Given the description of an element on the screen output the (x, y) to click on. 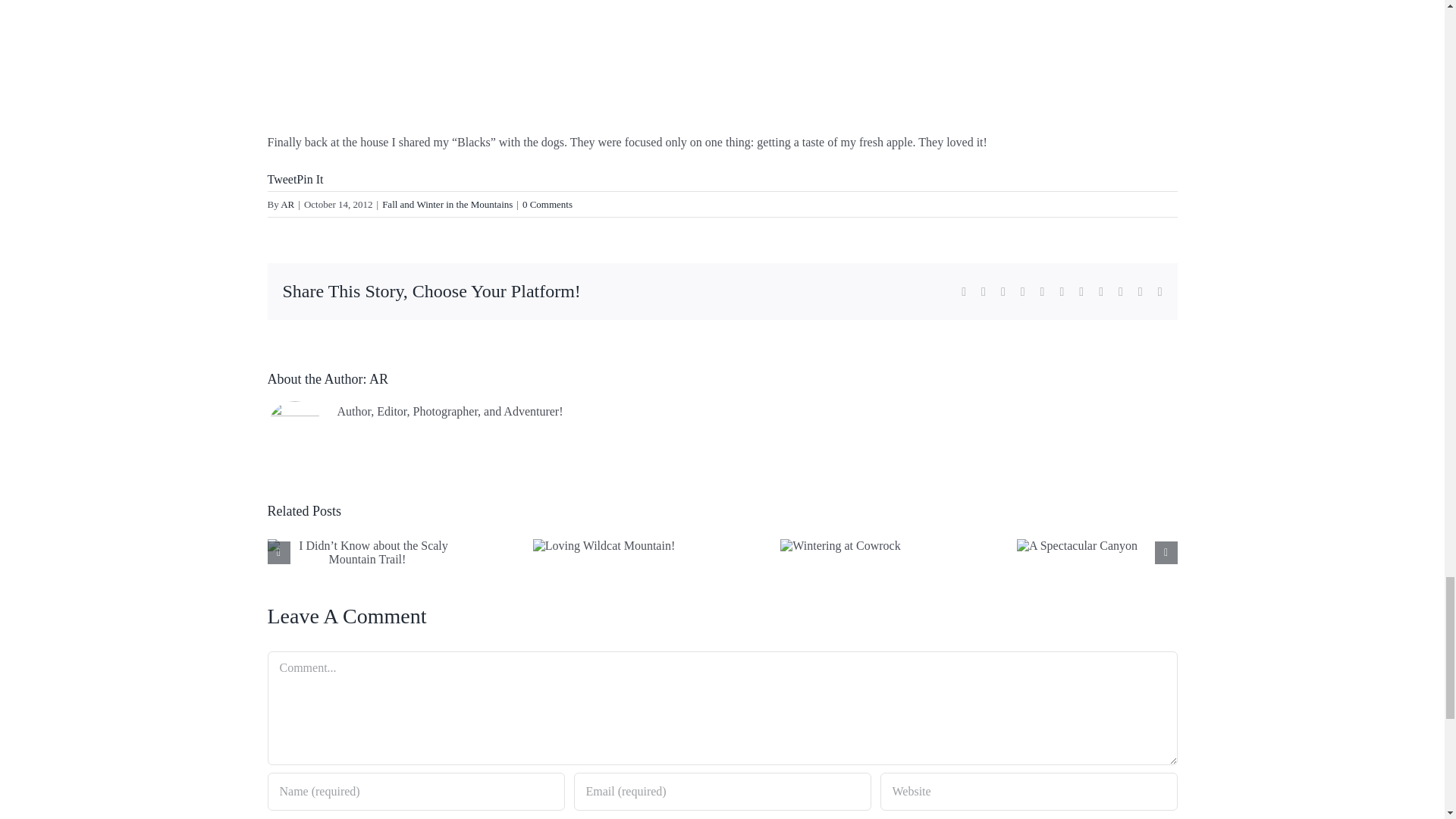
0 Comments (547, 204)
AR (378, 378)
Posts by AR (287, 204)
Pin It (310, 178)
Fall and Winter in the Mountains (446, 204)
Tweet (281, 178)
AR (287, 204)
